Given the description of an element on the screen output the (x, y) to click on. 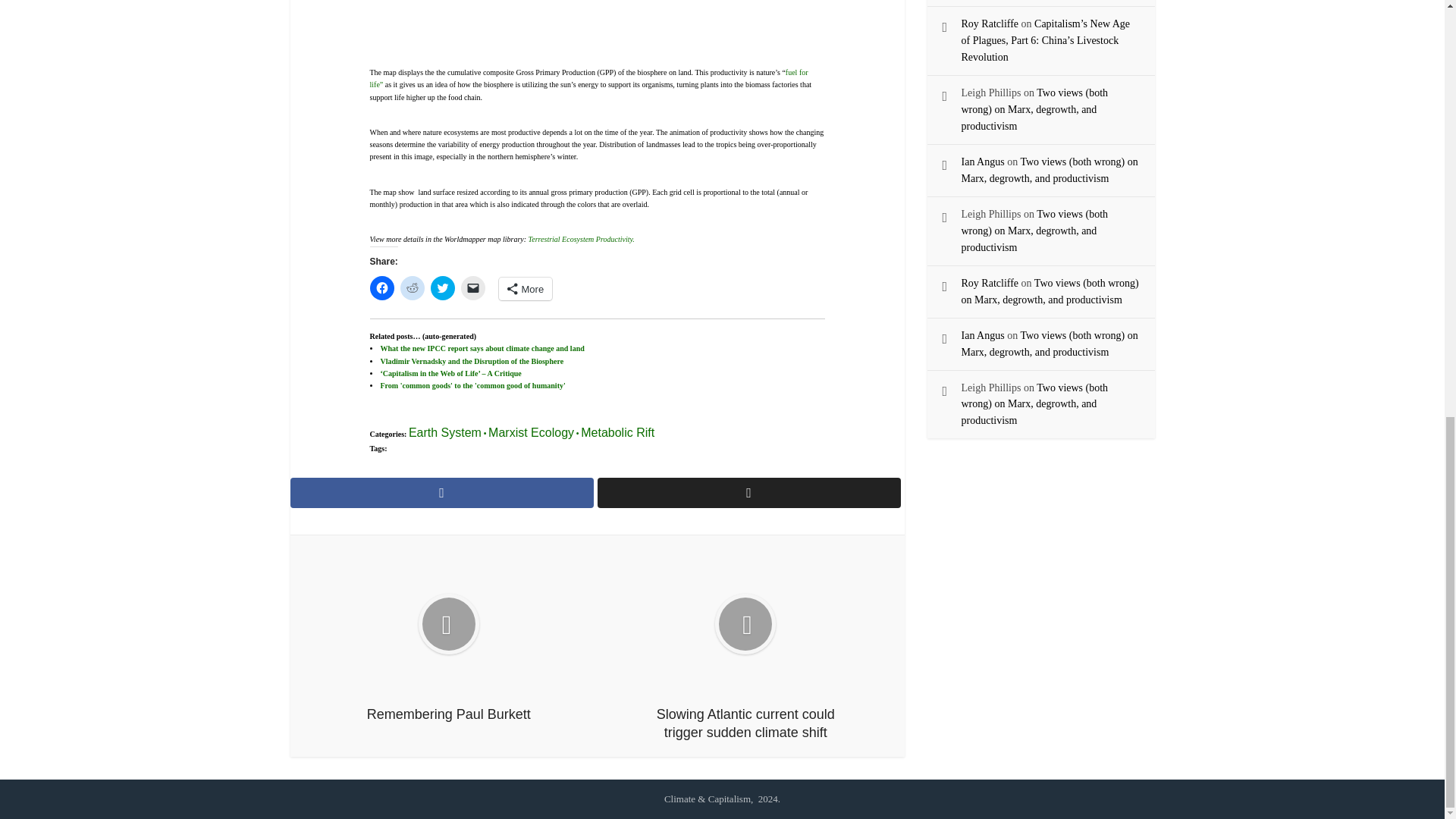
Terrestrial Ecosystem Productivity. (581, 239)
Click to email a link to a friend (472, 288)
Click to share on Twitter (442, 288)
Click to share on Reddit (412, 288)
Click to share on Facebook (381, 288)
